Given the description of an element on the screen output the (x, y) to click on. 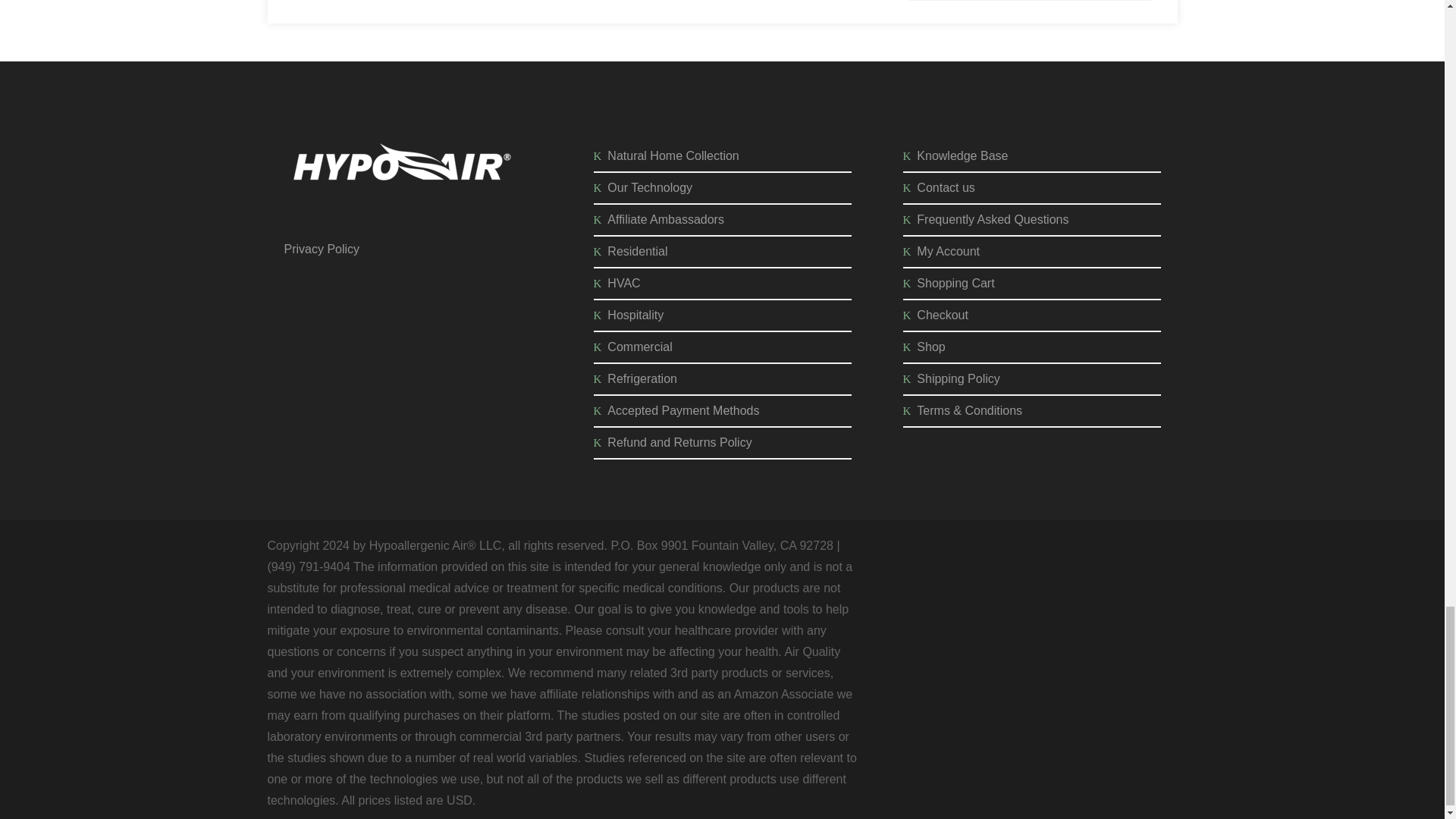
Privacy Policy (321, 248)
